Given the description of an element on the screen output the (x, y) to click on. 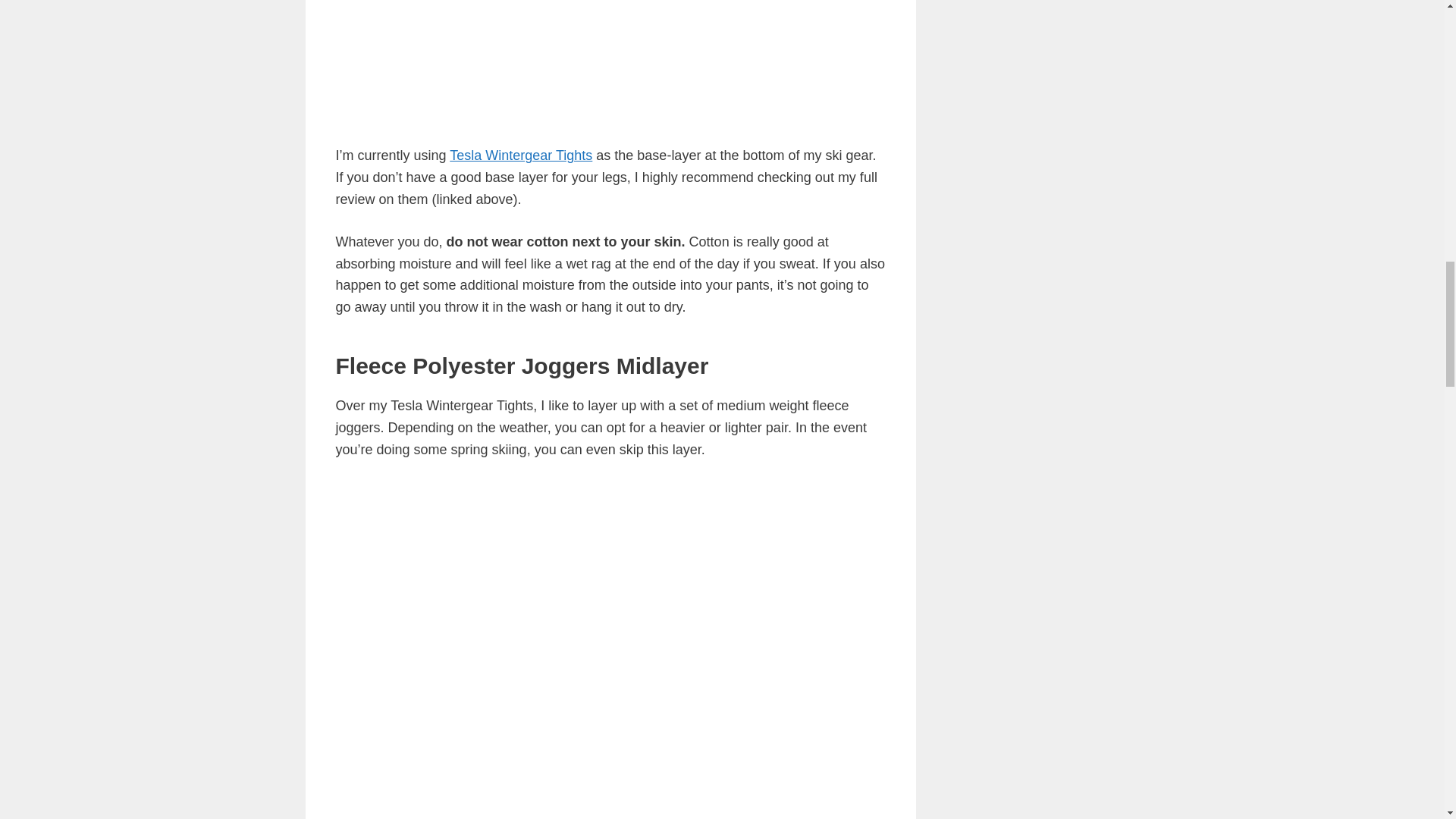
my winterized compression pants on the floor (600, 58)
Tesla Wintergear Tights (520, 155)
